Given the description of an element on the screen output the (x, y) to click on. 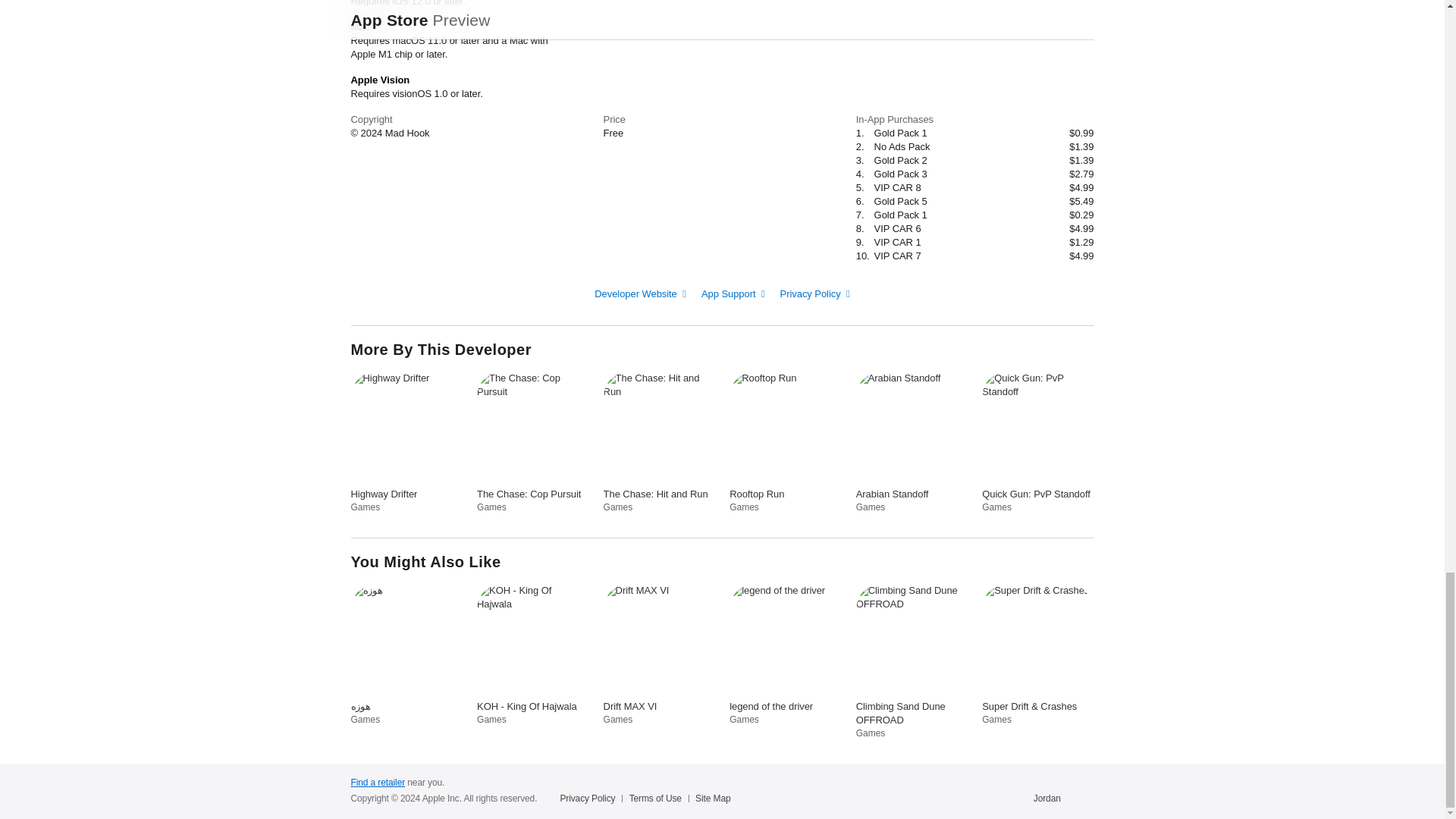
Choose your country or region (532, 654)
Privacy Policy (659, 654)
Developer Website (405, 442)
App Support (912, 661)
